Given the description of an element on the screen output the (x, y) to click on. 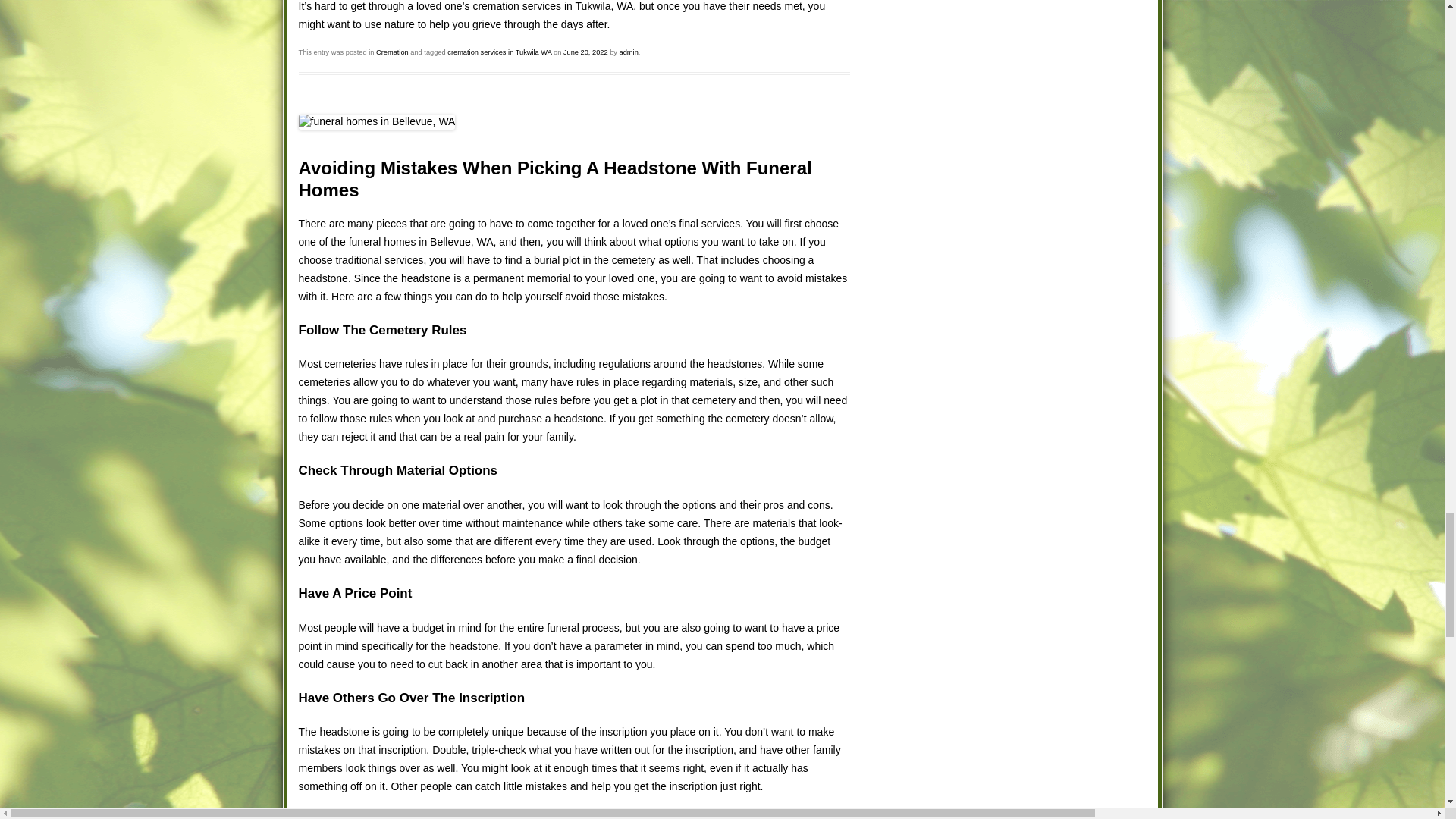
5:00 am (585, 52)
View all posts by admin (629, 52)
